Given the description of an element on the screen output the (x, y) to click on. 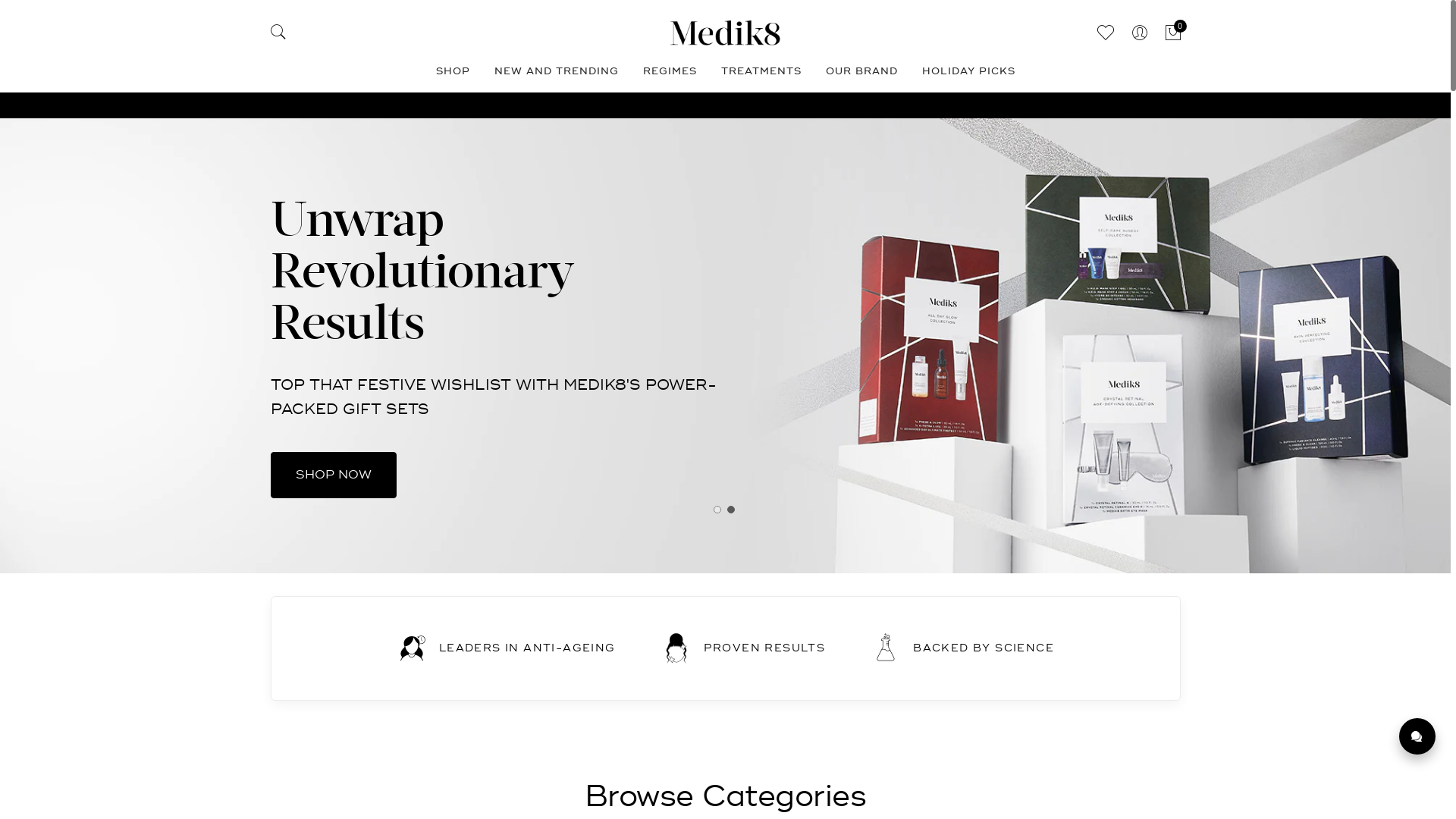
SHOP NOW Element type: text (332, 435)
REGIMES Element type: text (669, 74)
HOLIDAY PICKS Element type: text (968, 74)
TREATMENTS Element type: text (760, 74)
SHOP Element type: text (452, 74)
NEW AND TRENDING Element type: text (556, 74)
2 Element type: text (733, 512)
1 Element type: text (720, 512)
OUR BRAND Element type: text (860, 74)
0 Element type: text (1171, 33)
